Given the description of an element on the screen output the (x, y) to click on. 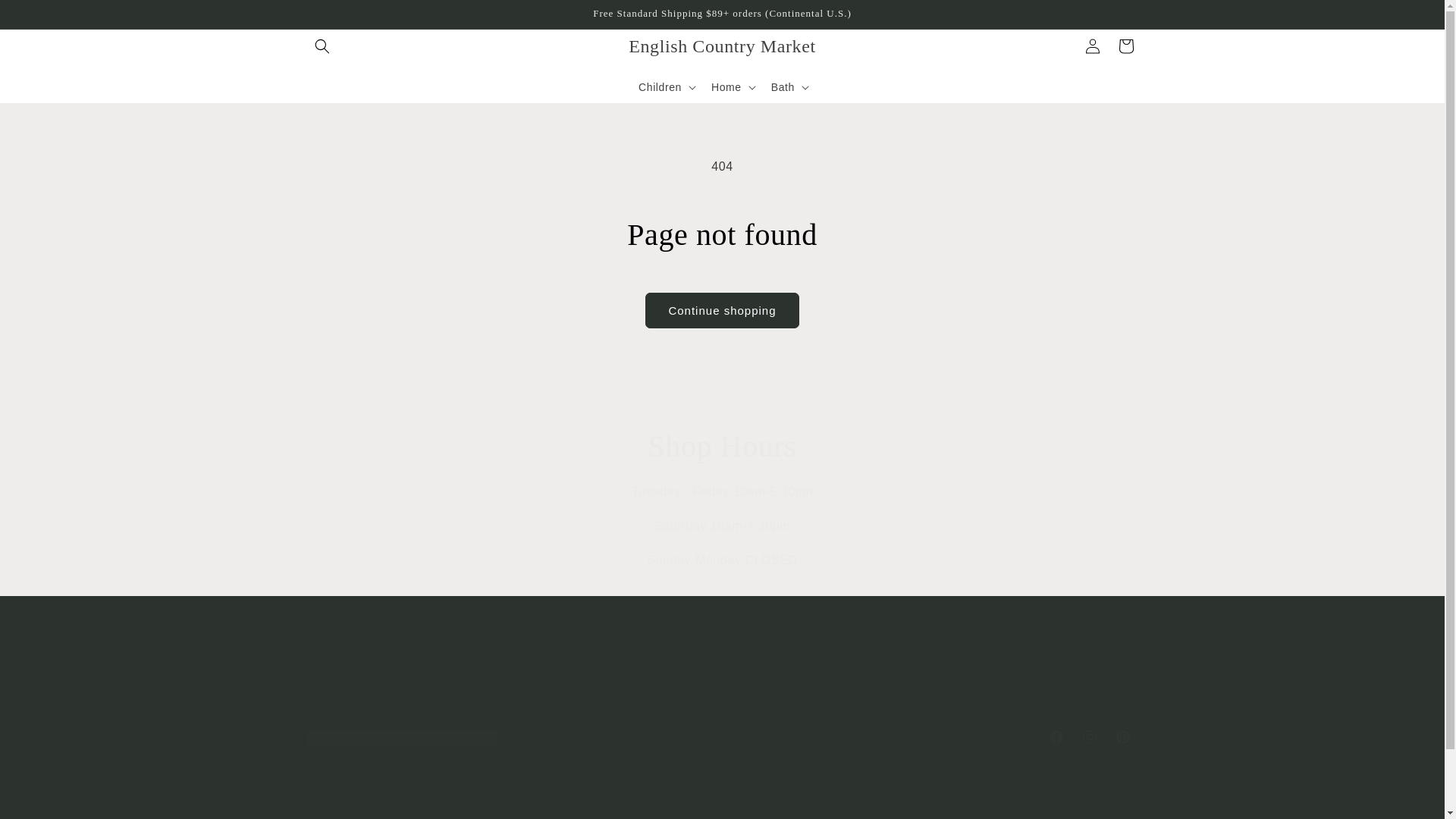
Shop Hours (721, 736)
Skip to content (721, 446)
